Given the description of an element on the screen output the (x, y) to click on. 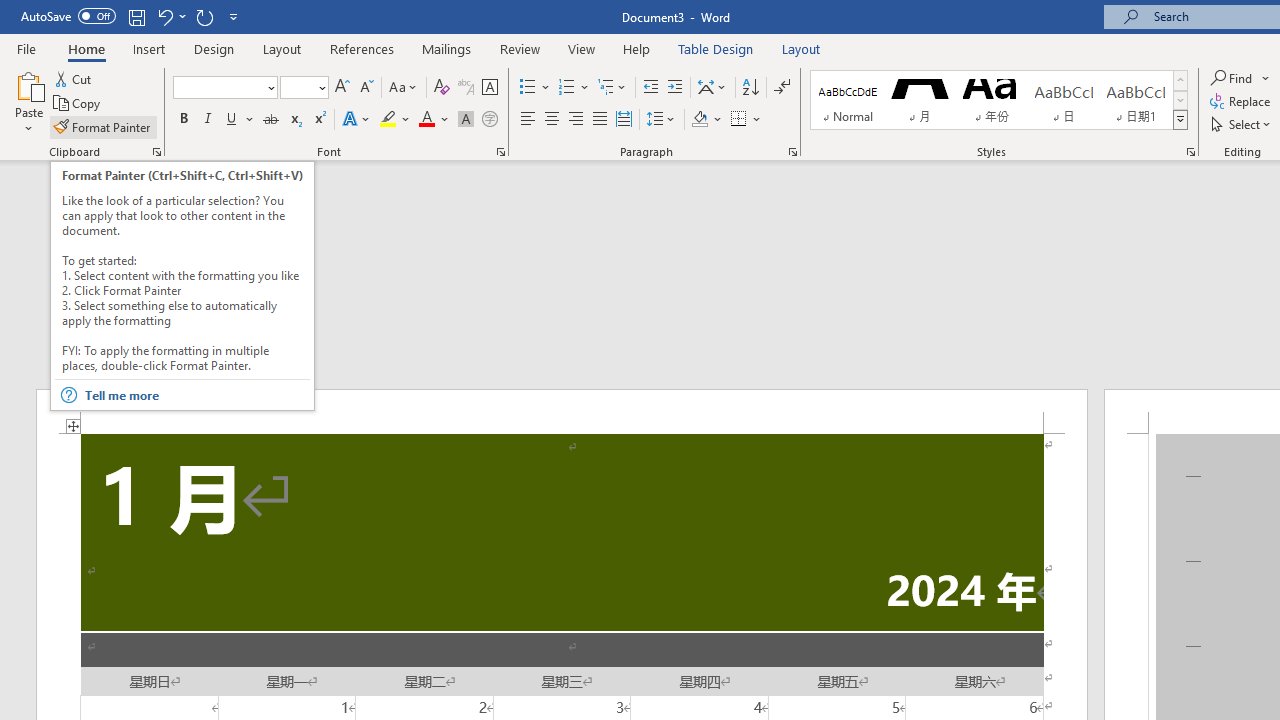
Show/Hide Editing Marks (781, 87)
Replace... (1242, 101)
Shrink Font (365, 87)
